Given the description of an element on the screen output the (x, y) to click on. 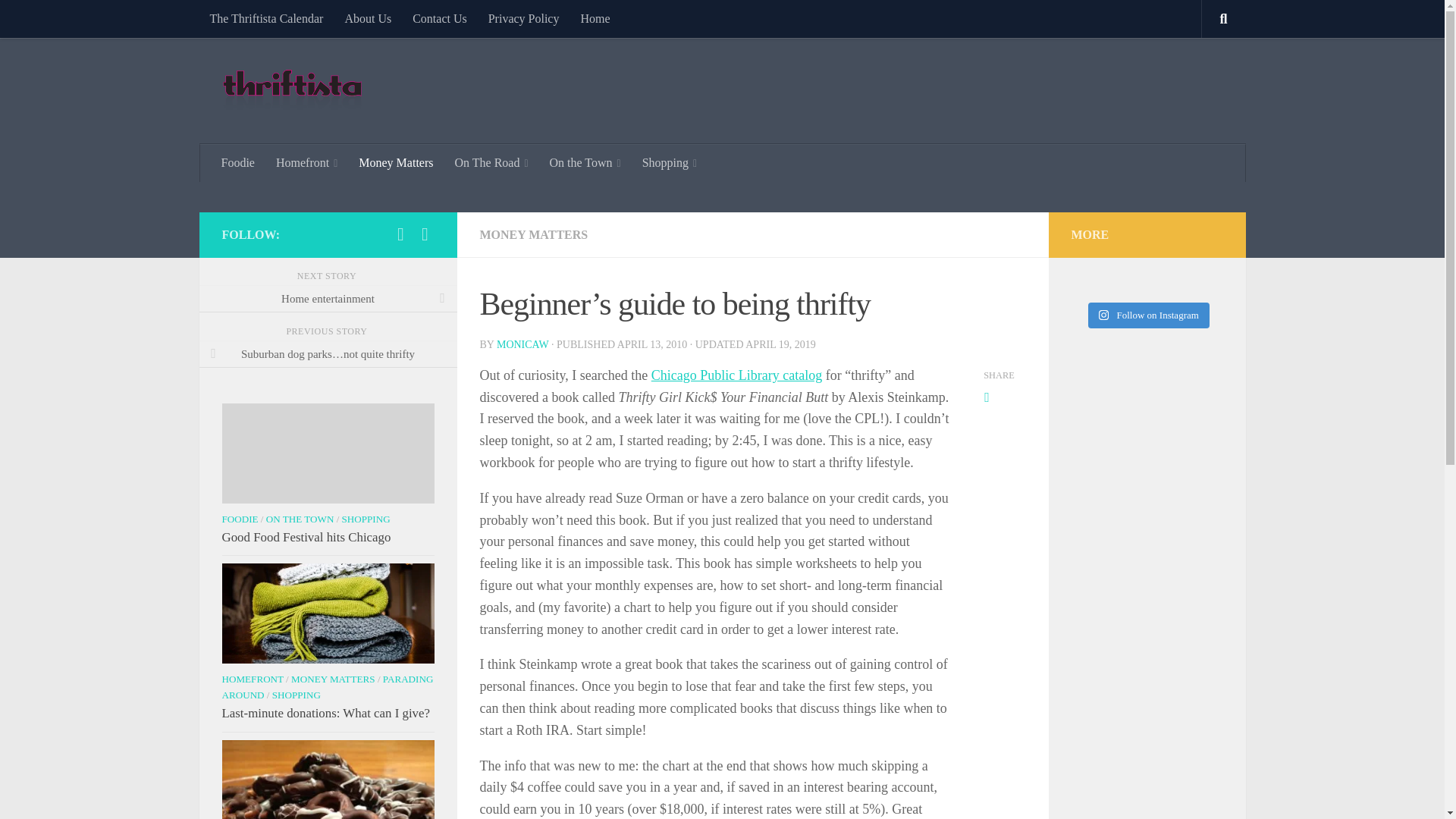
About Us (367, 18)
Contact Us (439, 18)
Follow us on Facebook (400, 234)
On the Town (584, 162)
The Thriftista Calendar (265, 18)
On The Road (491, 162)
Home (594, 18)
Follow us on Twitter (423, 234)
Homefront (305, 162)
Shopping (669, 162)
Skip to content (59, 20)
Money Matters (395, 162)
Foodie (237, 162)
MONICAW (522, 344)
Chicago Public Library catalog (736, 375)
